Given the description of an element on the screen output the (x, y) to click on. 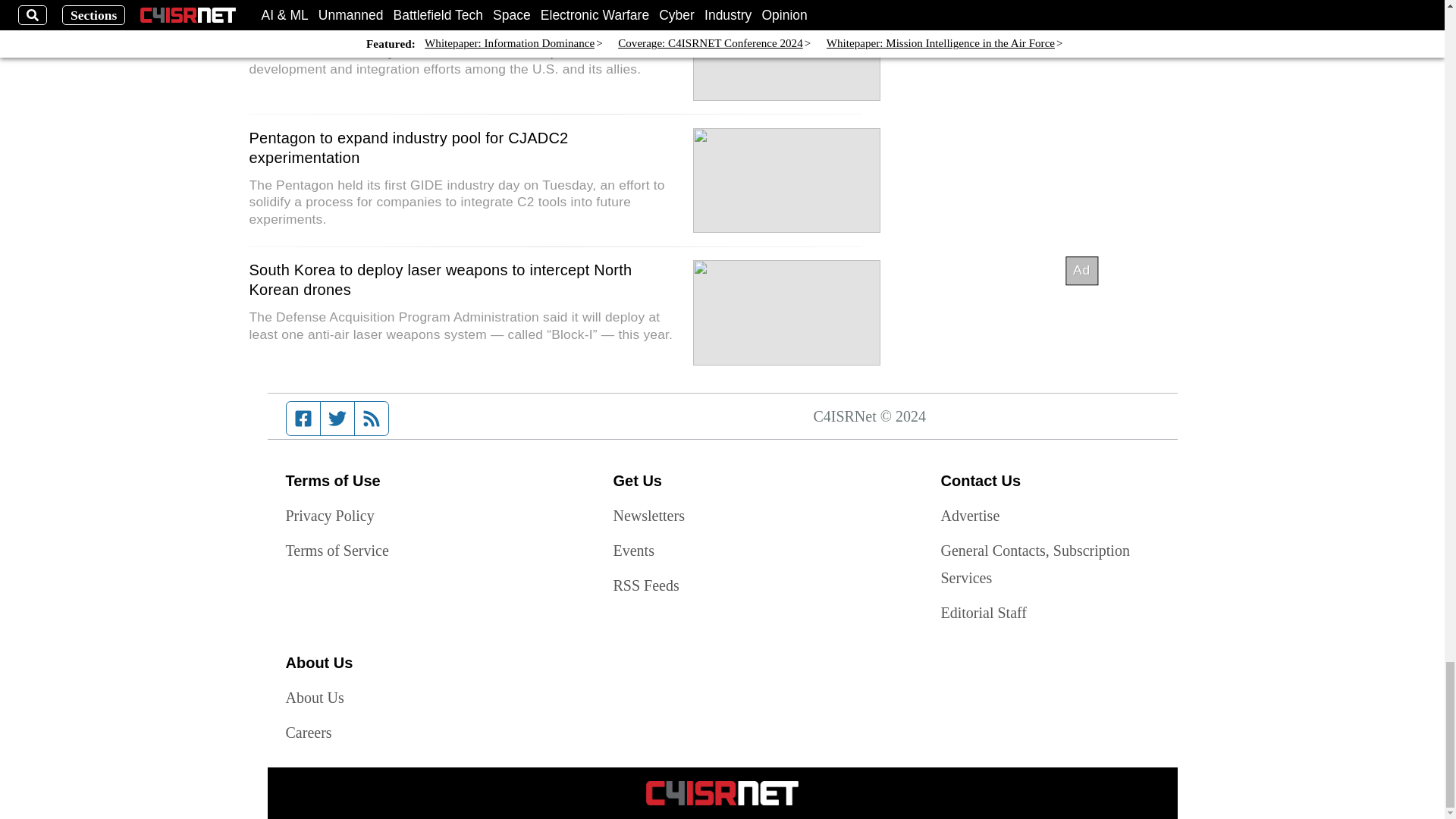
Twitter feed (336, 418)
Facebook page (303, 418)
RSS feed (371, 418)
